Given the description of an element on the screen output the (x, y) to click on. 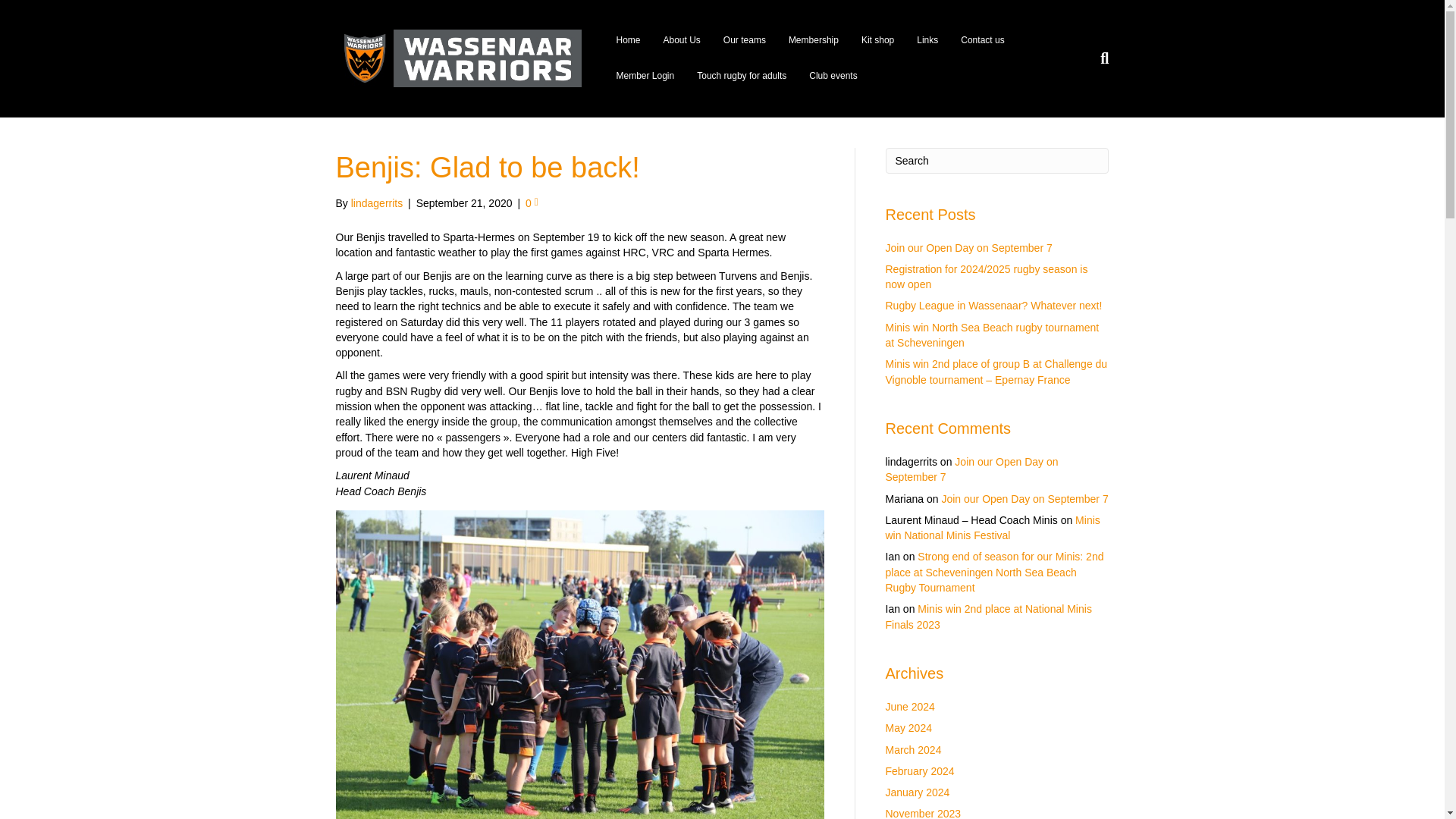
Home (627, 40)
Type and press Enter to search. (997, 160)
Search (997, 160)
About Us (681, 40)
Search (997, 160)
